Given the description of an element on the screen output the (x, y) to click on. 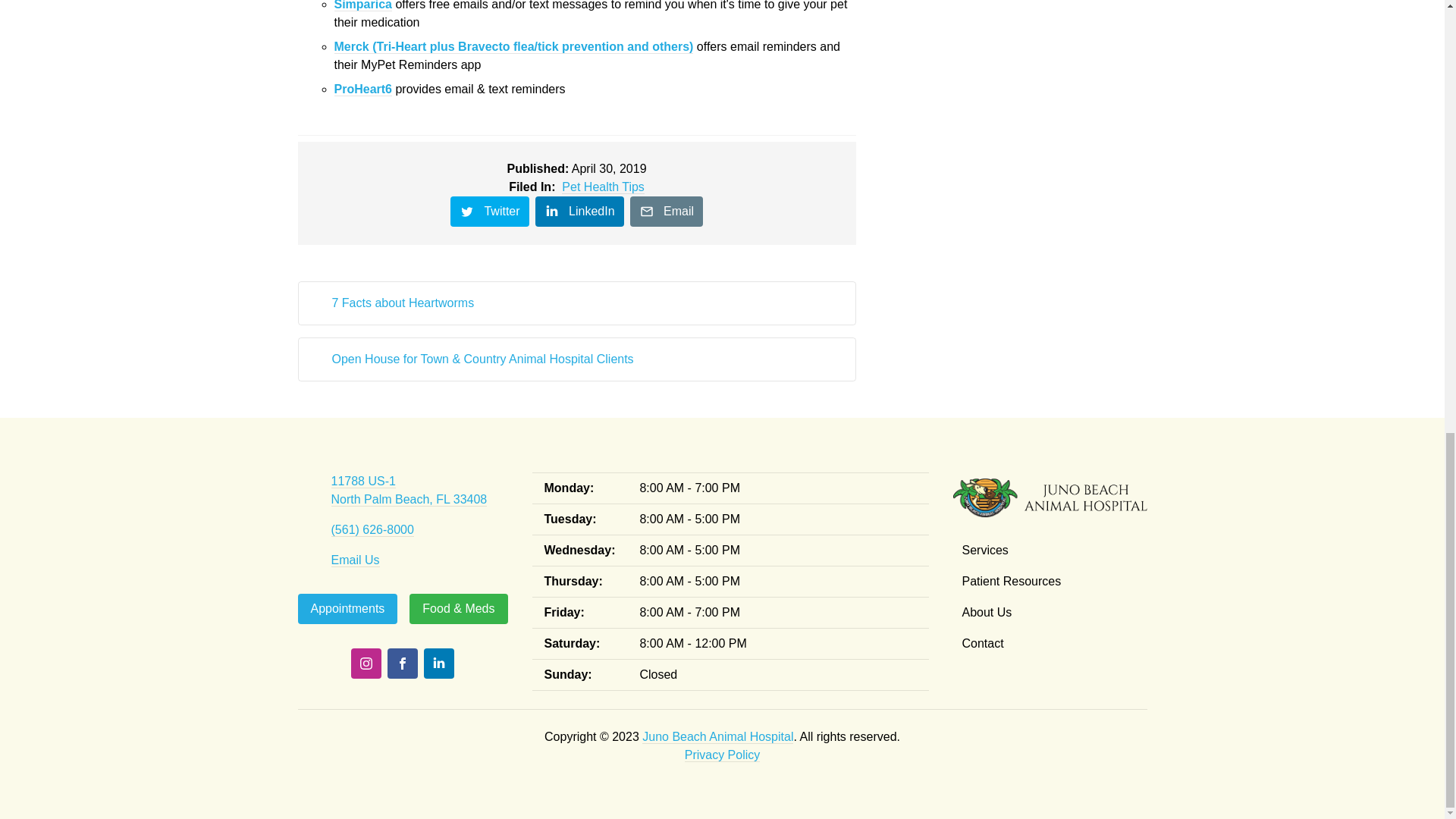
 LinkedIn (579, 211)
Pet Health Tips (603, 187)
Share via email (666, 211)
 Email (666, 211)
Share on Twitter (489, 211)
Share on LinkedIn (579, 211)
Call Us (371, 530)
LinkedIn (438, 663)
Facebook (402, 663)
Appointments (347, 608)
ProHeart6 (362, 89)
 Twitter (489, 211)
Simparica (362, 5)
Email Us (354, 560)
Instagram (365, 663)
